Given the description of an element on the screen output the (x, y) to click on. 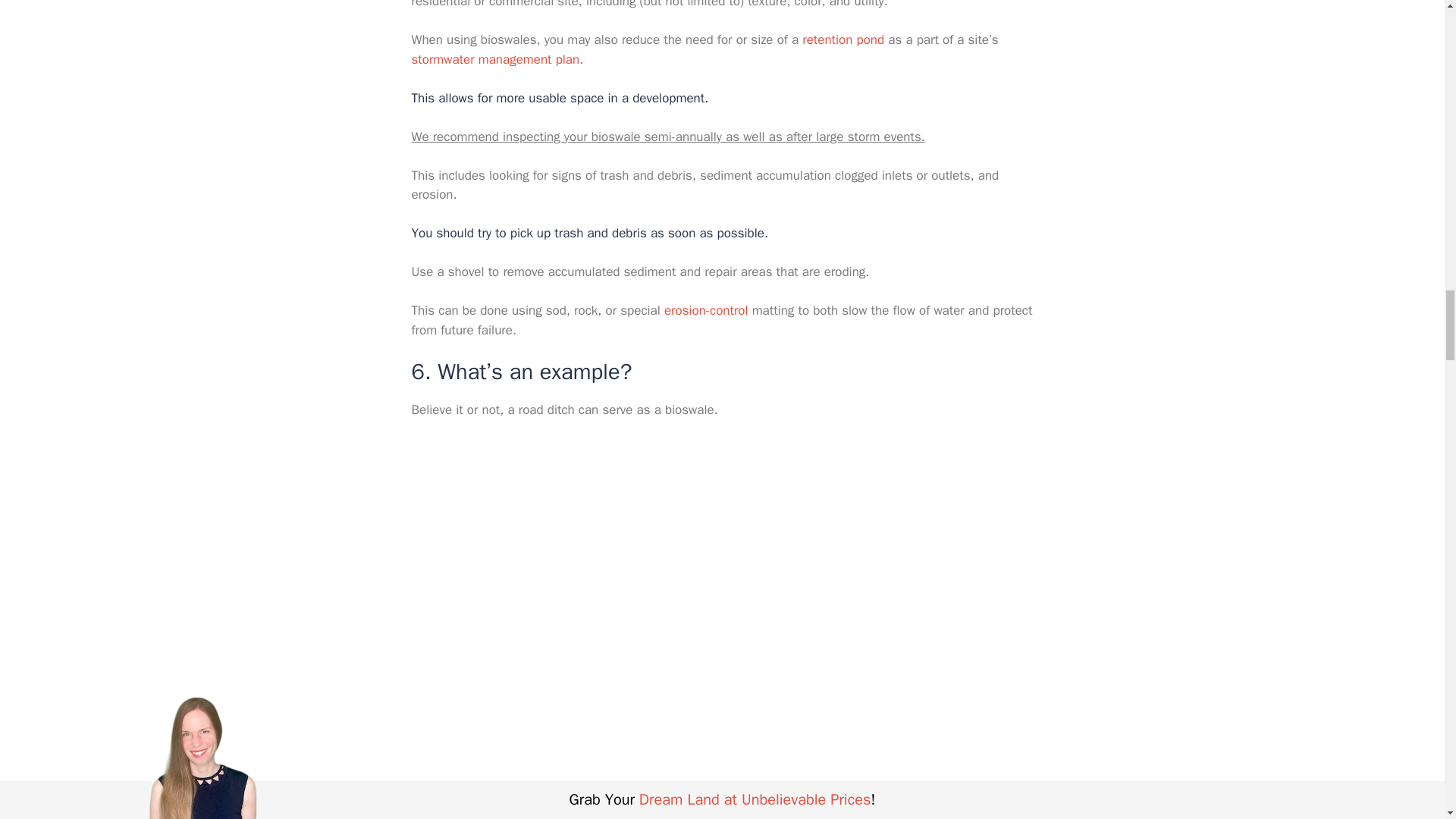
stormwater management plan (494, 59)
retention pond (842, 39)
erosion-control (705, 310)
